Given the description of an element on the screen output the (x, y) to click on. 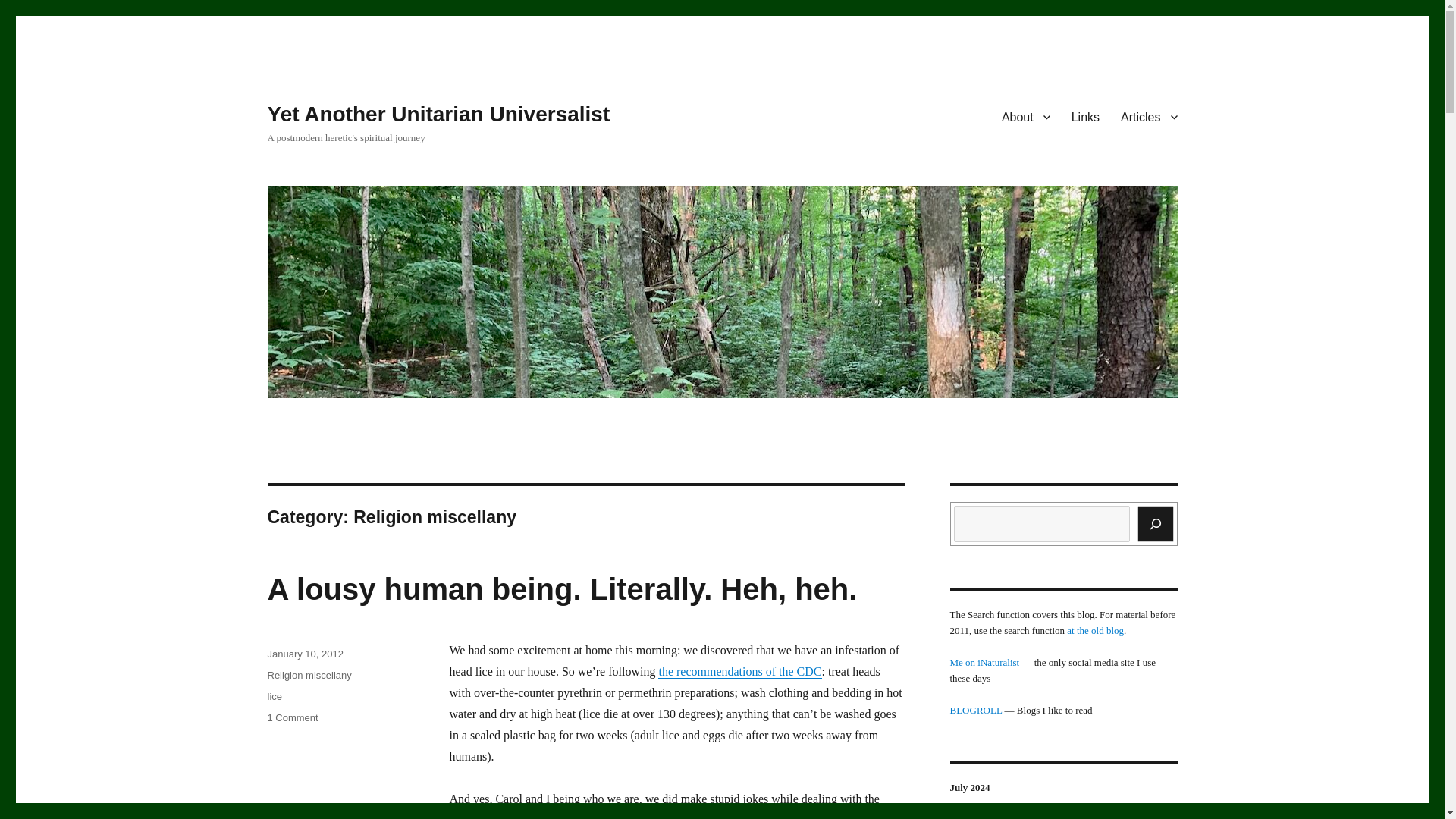
Articles (1148, 116)
lice (274, 696)
Wednesday (1064, 816)
Monday (998, 816)
Sunday (967, 816)
A lousy human being. Literally. Heh, heh. (561, 589)
January 10, 2012 (304, 654)
About (1026, 116)
Tuesday (1031, 816)
Thursday (1096, 816)
Religion miscellany (308, 674)
Yet Another Unitarian Universalist (291, 717)
Saturday (438, 114)
the recommendations of the CDC (1160, 816)
